Given the description of an element on the screen output the (x, y) to click on. 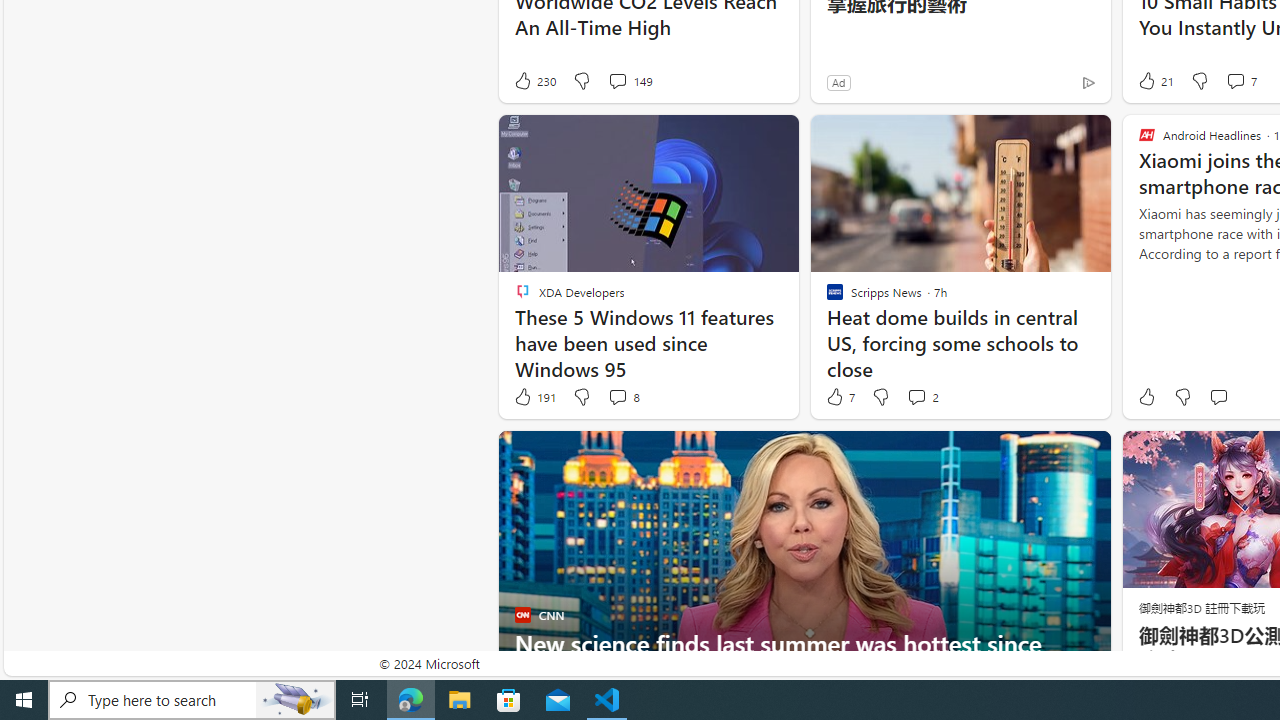
21 Like (1154, 80)
View comments 7 Comment (1234, 80)
View comments 149 Comment (629, 80)
Like (1145, 397)
View comments 2 Comment (916, 396)
7 Like (839, 397)
230 Like (534, 80)
View comments 7 Comment (1240, 80)
View comments 149 Comment (617, 80)
View comments 8 Comment (623, 397)
